Given the description of an element on the screen output the (x, y) to click on. 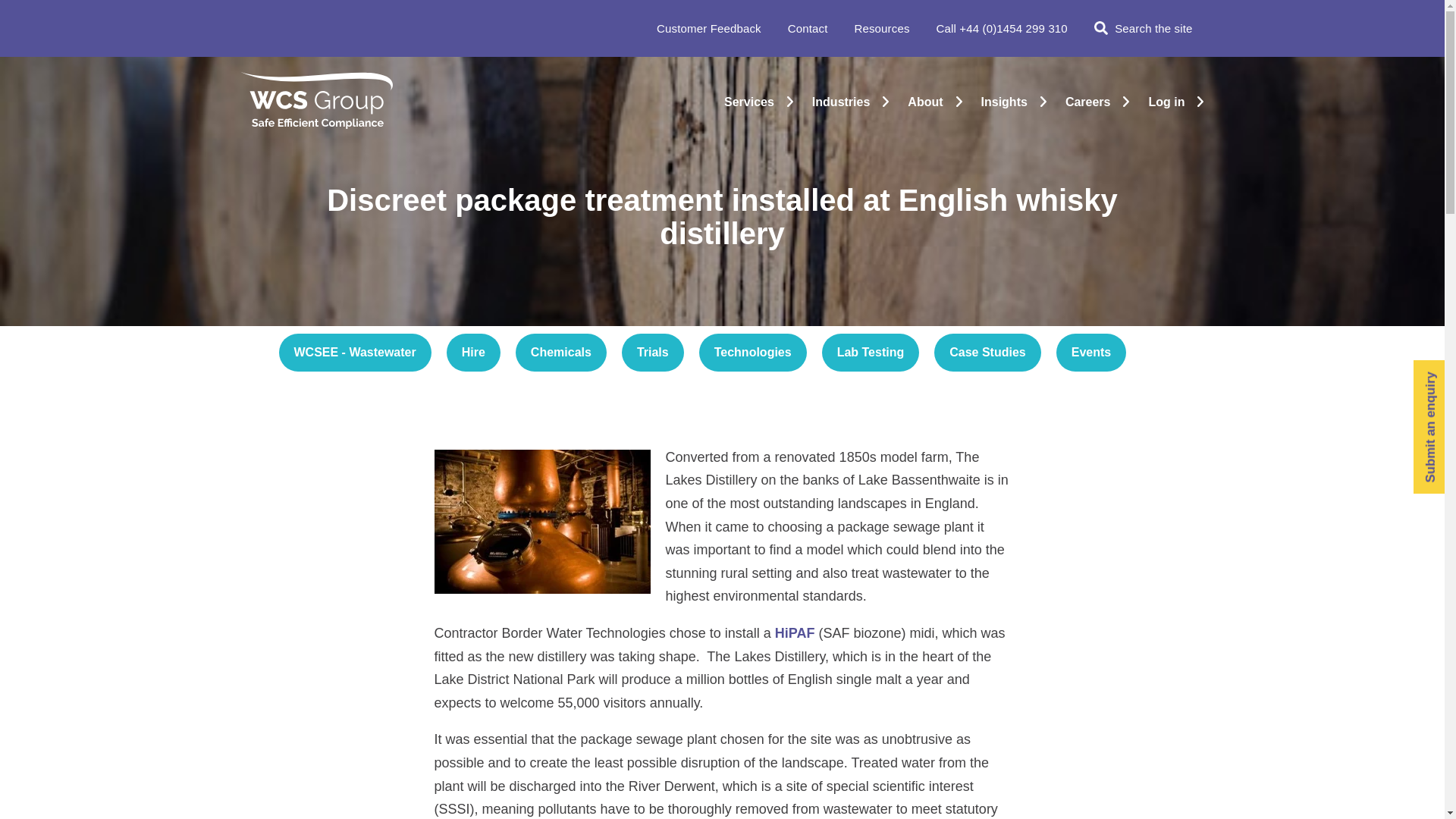
Careers (1087, 101)
Contact (807, 28)
Resources (880, 28)
Industries (840, 101)
Search the site (1143, 28)
Services (748, 101)
Log in (1166, 101)
About (924, 101)
Customer Feedback (708, 28)
Insights (1004, 101)
